Given the description of an element on the screen output the (x, y) to click on. 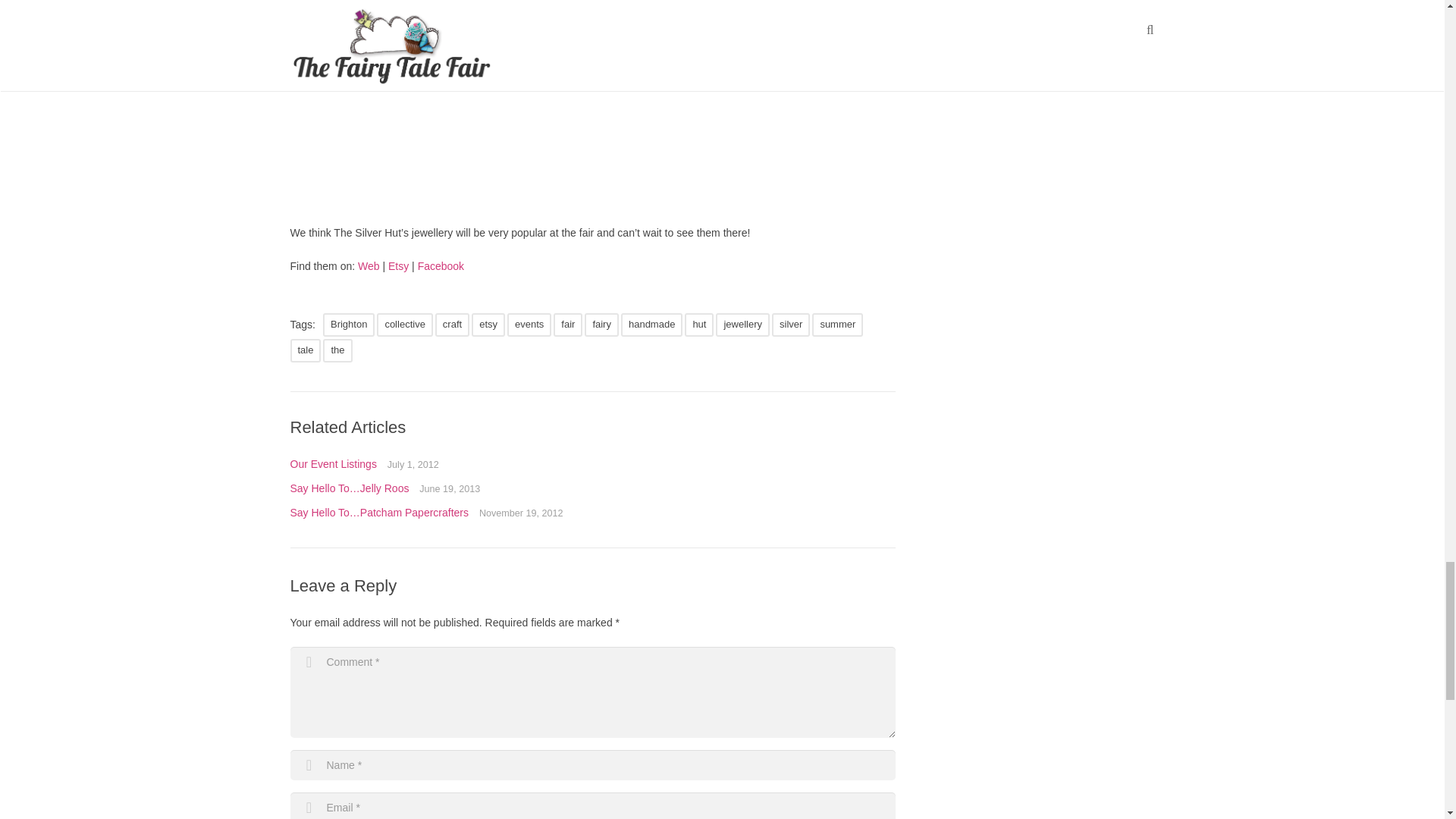
Etsy (398, 265)
fair (567, 324)
Brighton (348, 324)
handmade (651, 324)
Web (369, 265)
collective (404, 324)
Picture 54 (492, 104)
Facebook (440, 265)
fairy (601, 324)
events (528, 324)
